Given the description of an element on the screen output the (x, y) to click on. 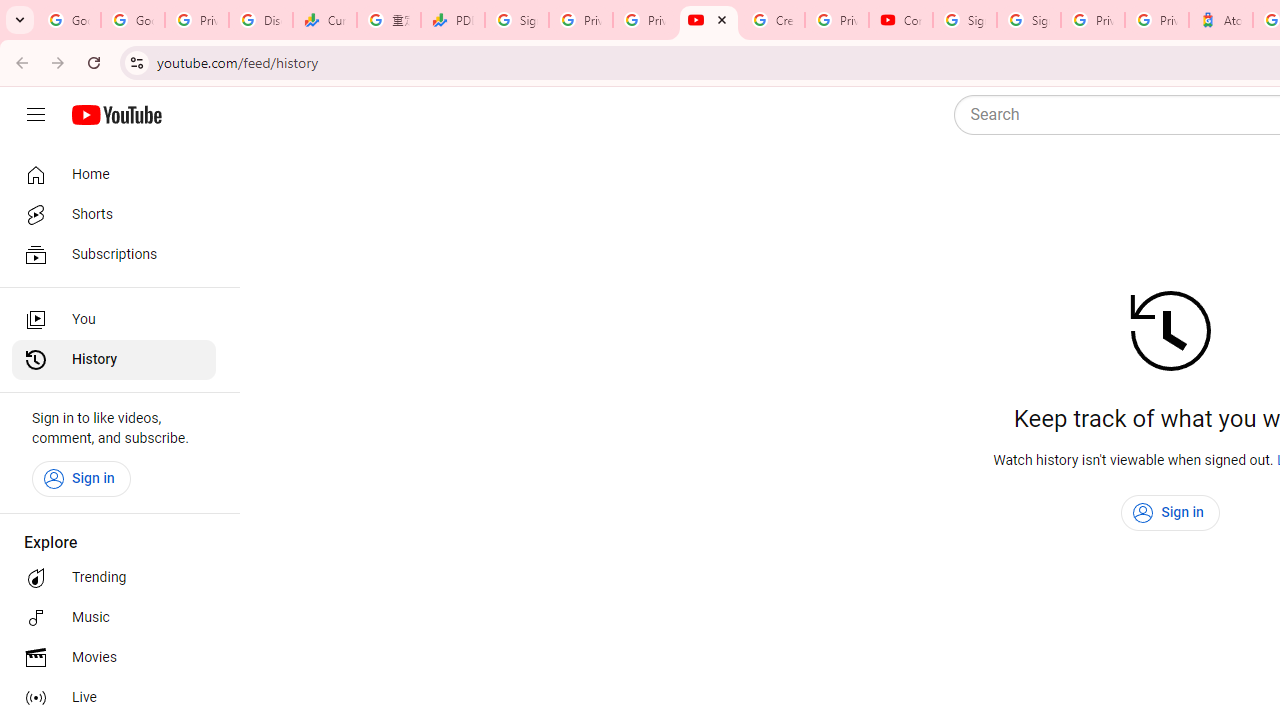
Google Workspace Admin Community (69, 20)
Create your Google Account (773, 20)
Music (113, 617)
Sign in - Google Accounts (1029, 20)
Shorts (113, 214)
Guide (35, 115)
Live (113, 697)
History (113, 359)
Content Creator Programs & Opportunities - YouTube Creators (901, 20)
